Given the description of an element on the screen output the (x, y) to click on. 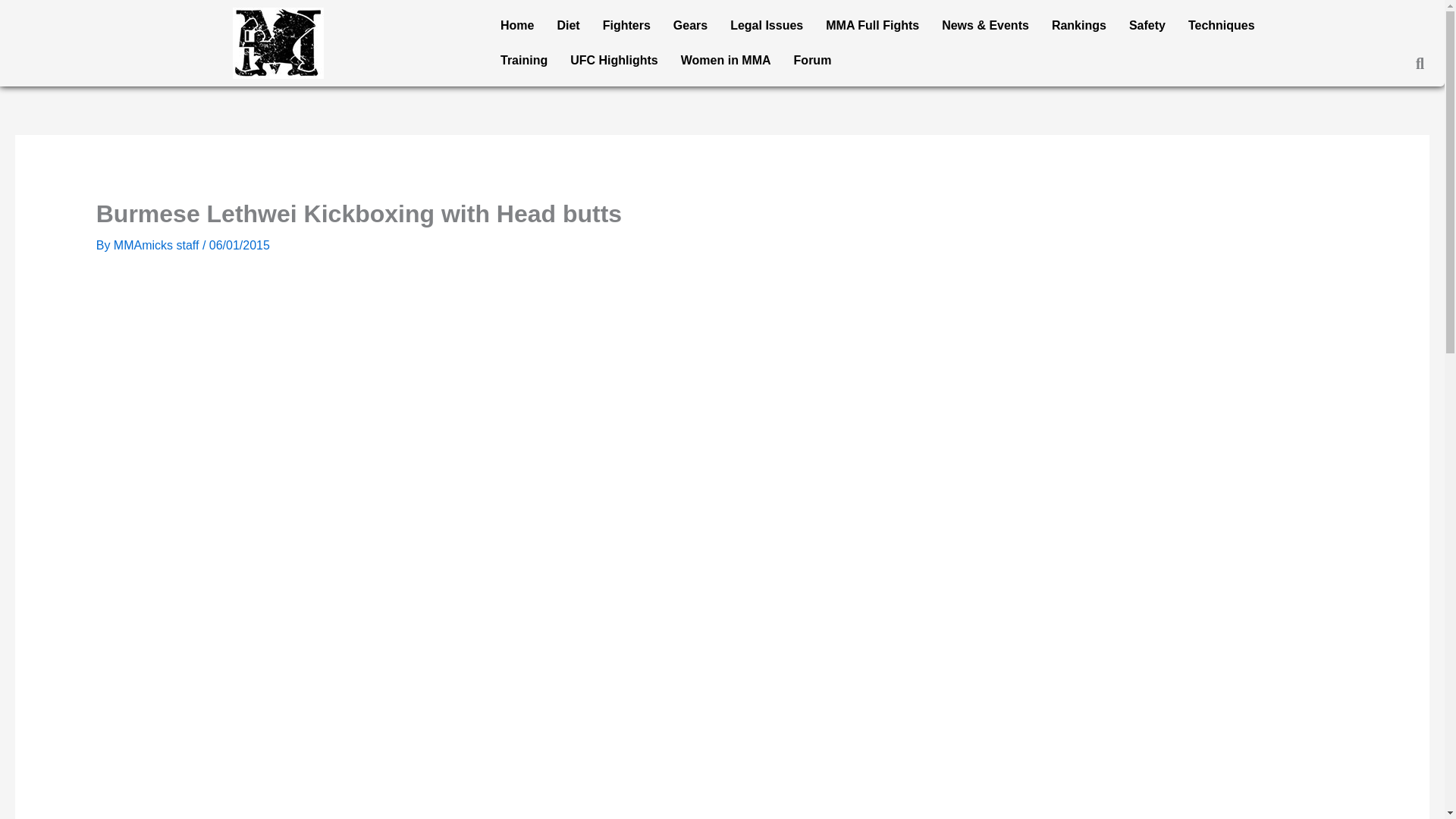
Diet (567, 25)
Women in MMA (726, 60)
MMA Full Fights (871, 25)
Fighters (626, 25)
Legal Issues (766, 25)
Forum (813, 60)
Safety (1147, 25)
UFC Highlights (614, 60)
MMAmicks staff (157, 245)
Gears (690, 25)
